Given the description of an element on the screen output the (x, y) to click on. 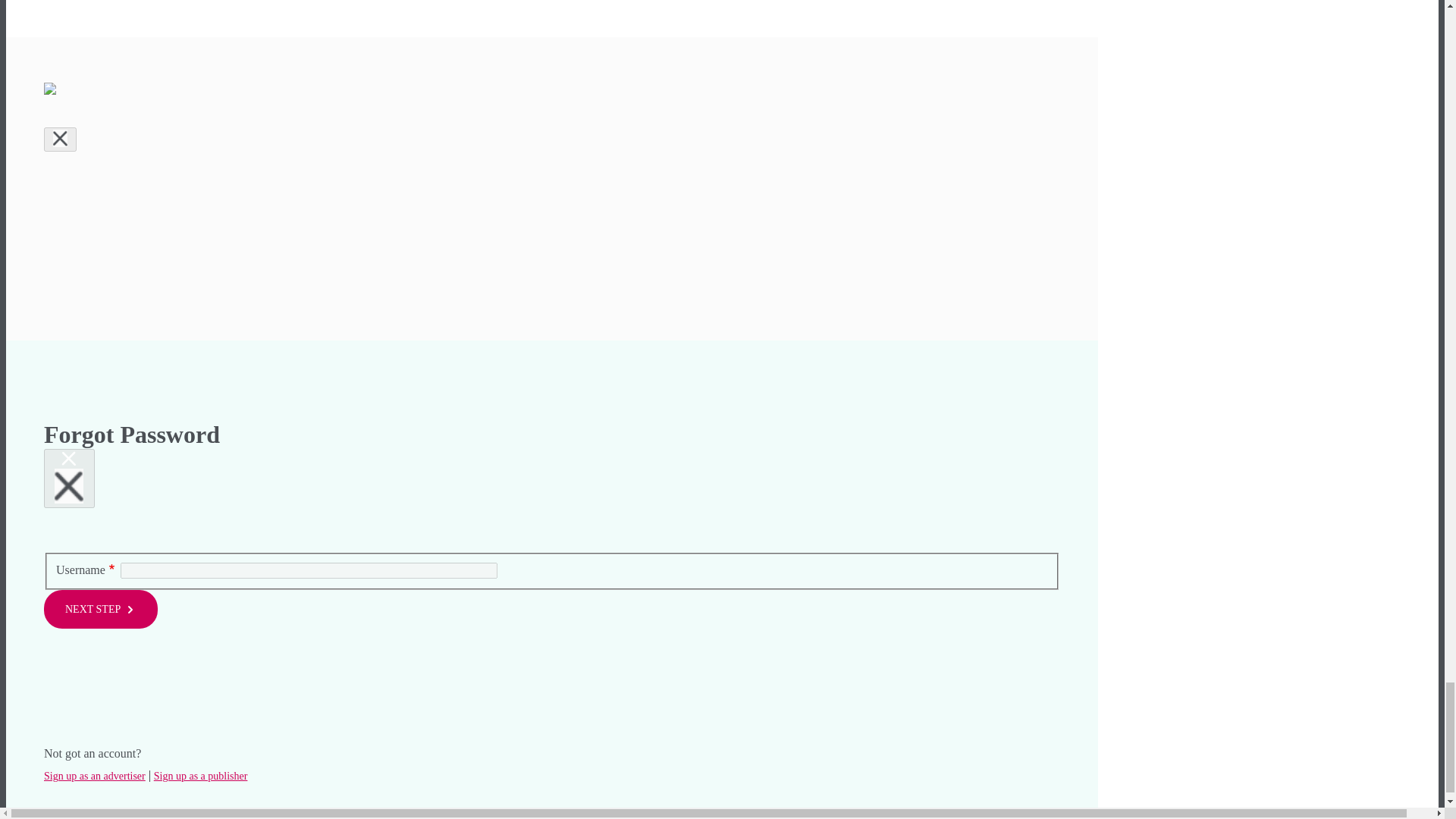
Sign up (74, 2)
Sign up as a publisher (198, 776)
NEXT STEP (100, 608)
Sign up as an advertiser (94, 776)
